Given the description of an element on the screen output the (x, y) to click on. 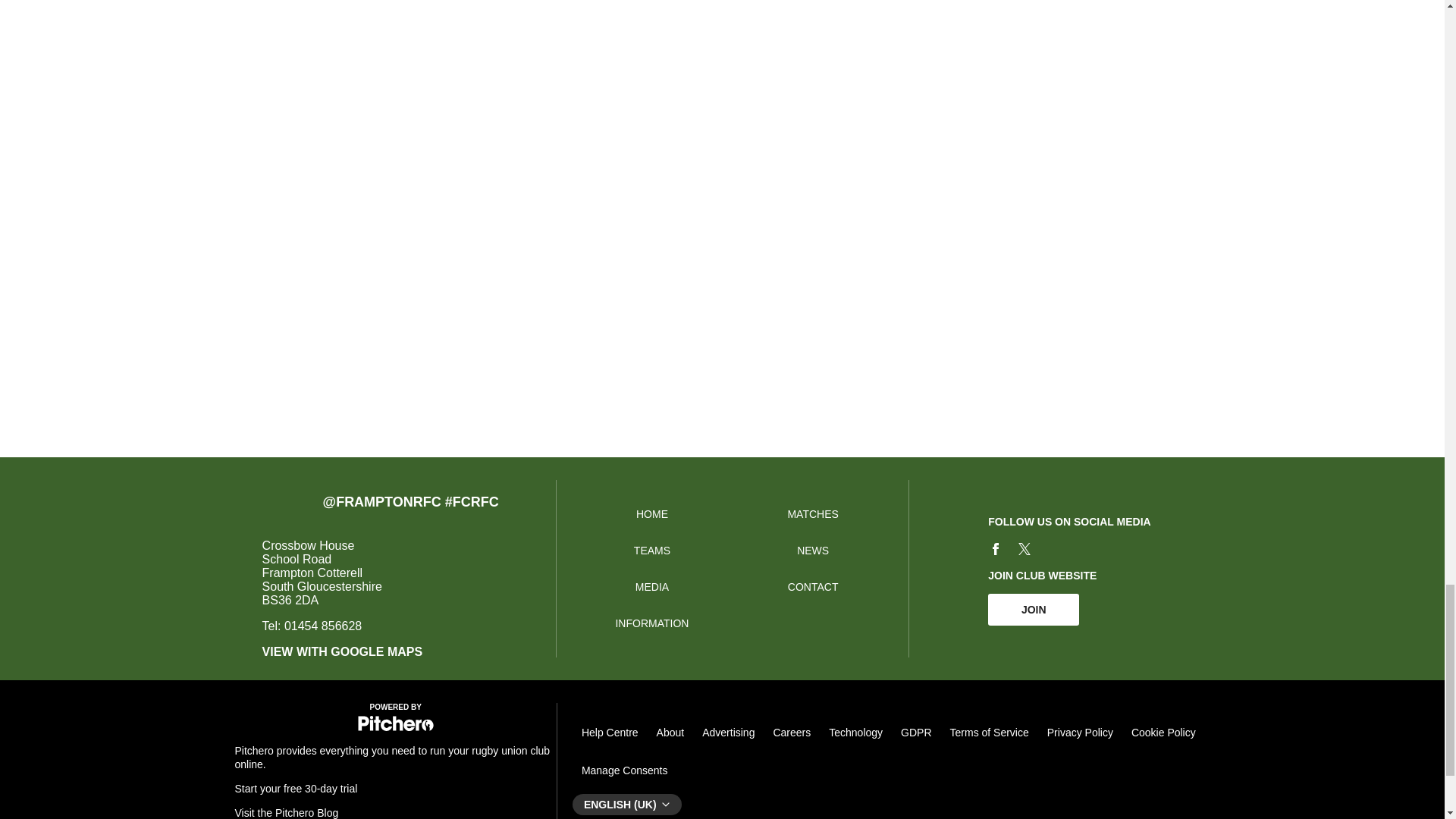
Shirt Sponsor  - Chipping Sodbury Motors  (563, 42)
Shirt Sponsor - SSC  (1036, 42)
Sponsor - Jolly Hog (722, 42)
Shirt Sponsor - KB Digital  (90, 42)
